Given the description of an element on the screen output the (x, y) to click on. 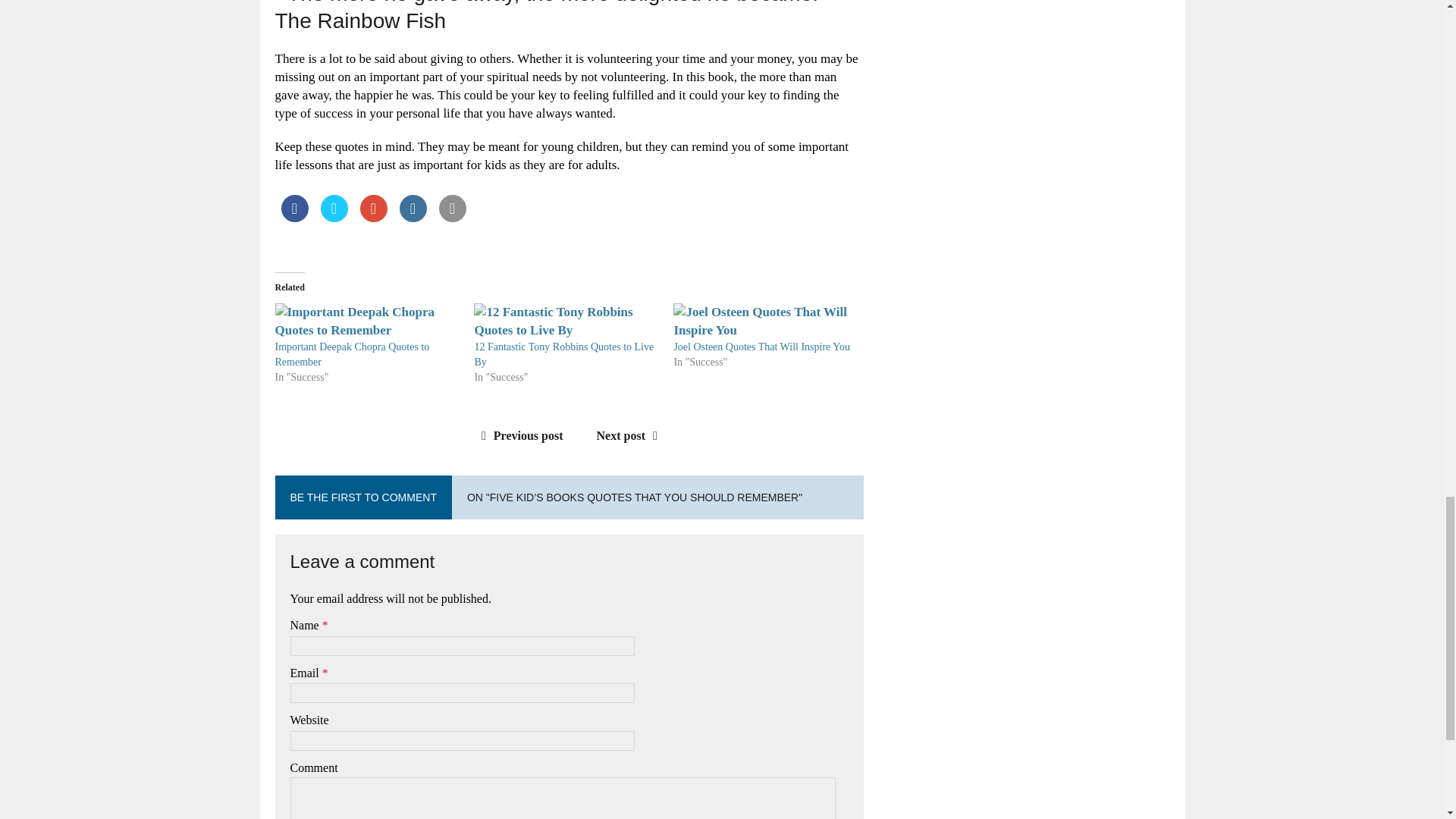
Joel Osteen Quotes That Will Inspire You (761, 346)
Next post (630, 435)
Previous post (518, 435)
Important Deepak Chopra Quotes to Remember (352, 354)
12 Fantastic Tony Robbins Quotes to Live By (563, 354)
